Given the description of an element on the screen output the (x, y) to click on. 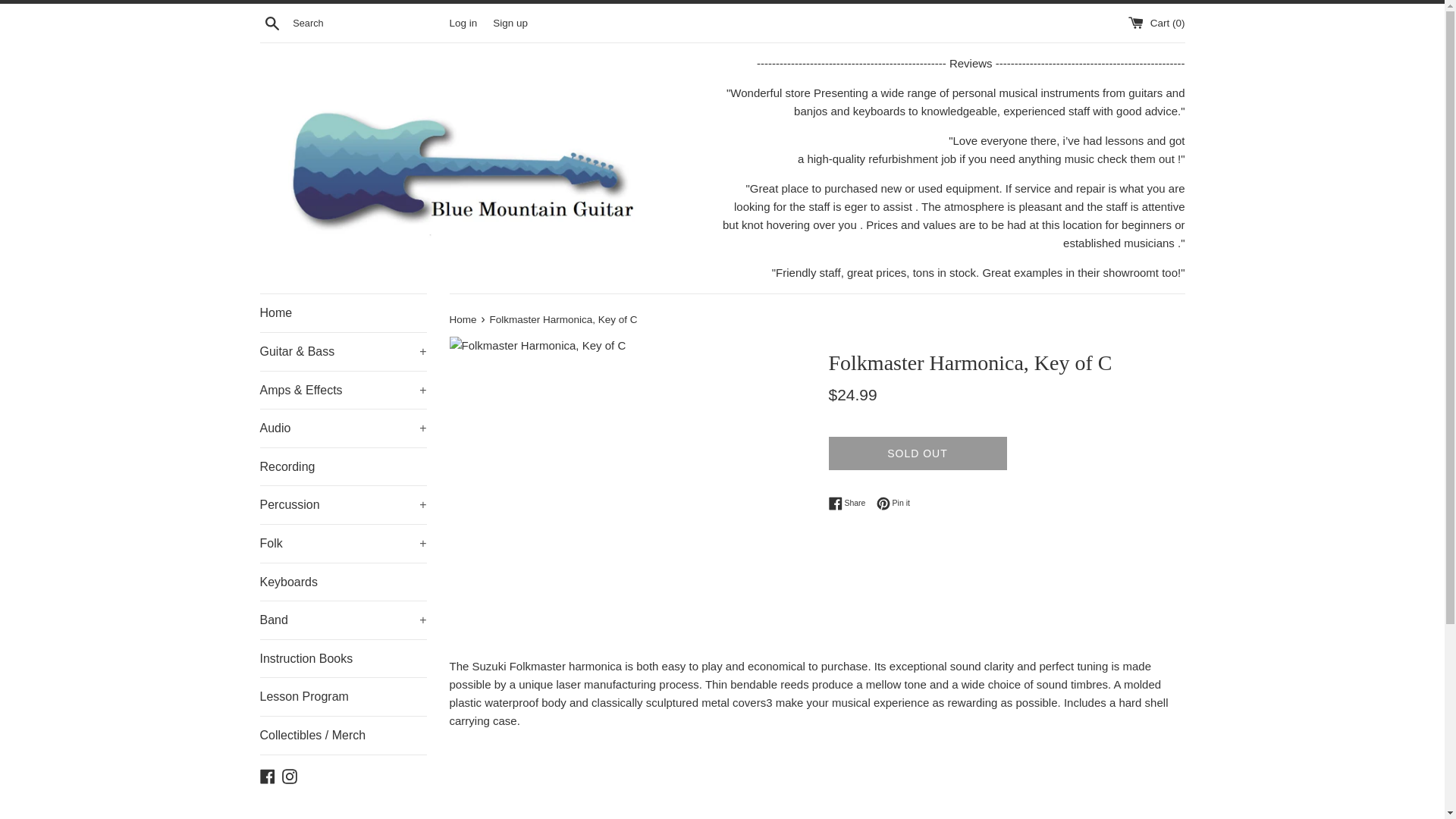
Blue Mountain Guitar on Instagram (289, 775)
Search (271, 21)
Home (342, 313)
Blue Mountain Guitar on Facebook (267, 775)
Sign up (510, 21)
Log in (462, 21)
Pin on Pinterest (893, 503)
Back to the frontpage (463, 319)
Share on Facebook (850, 503)
